Given the description of an element on the screen output the (x, y) to click on. 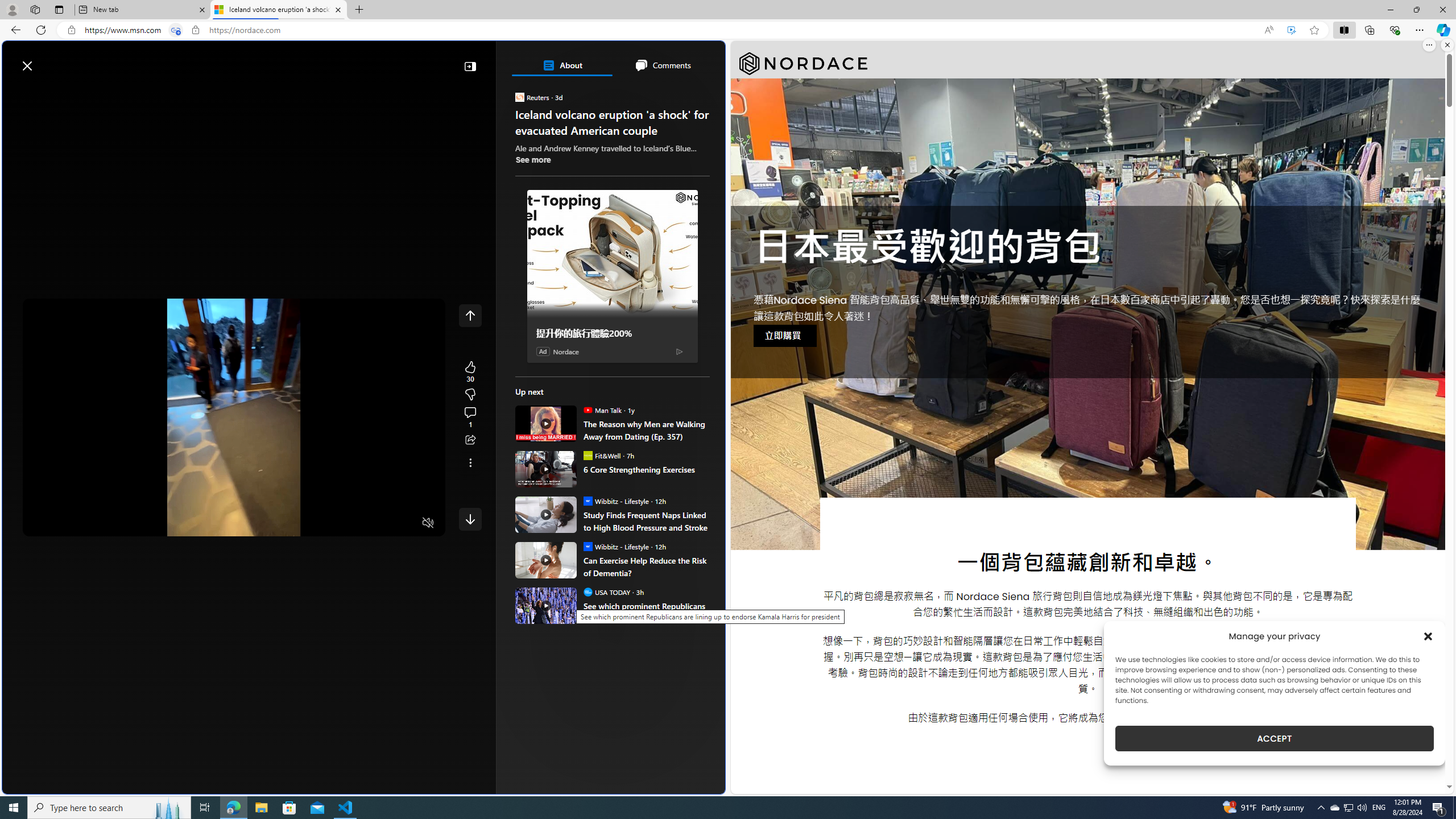
30 Like (469, 371)
Enhance video (1291, 29)
Captions (383, 523)
Fit&Well (587, 455)
Progress Bar (234, 508)
Wibbitz - Lifestyle (587, 546)
The Reason why Men are Walking Away from Dating (Ep. 357) (545, 423)
Web search (161, 60)
Close split screen. (1447, 45)
6 Core Strengthening Exercises (545, 468)
